Given the description of an element on the screen output the (x, y) to click on. 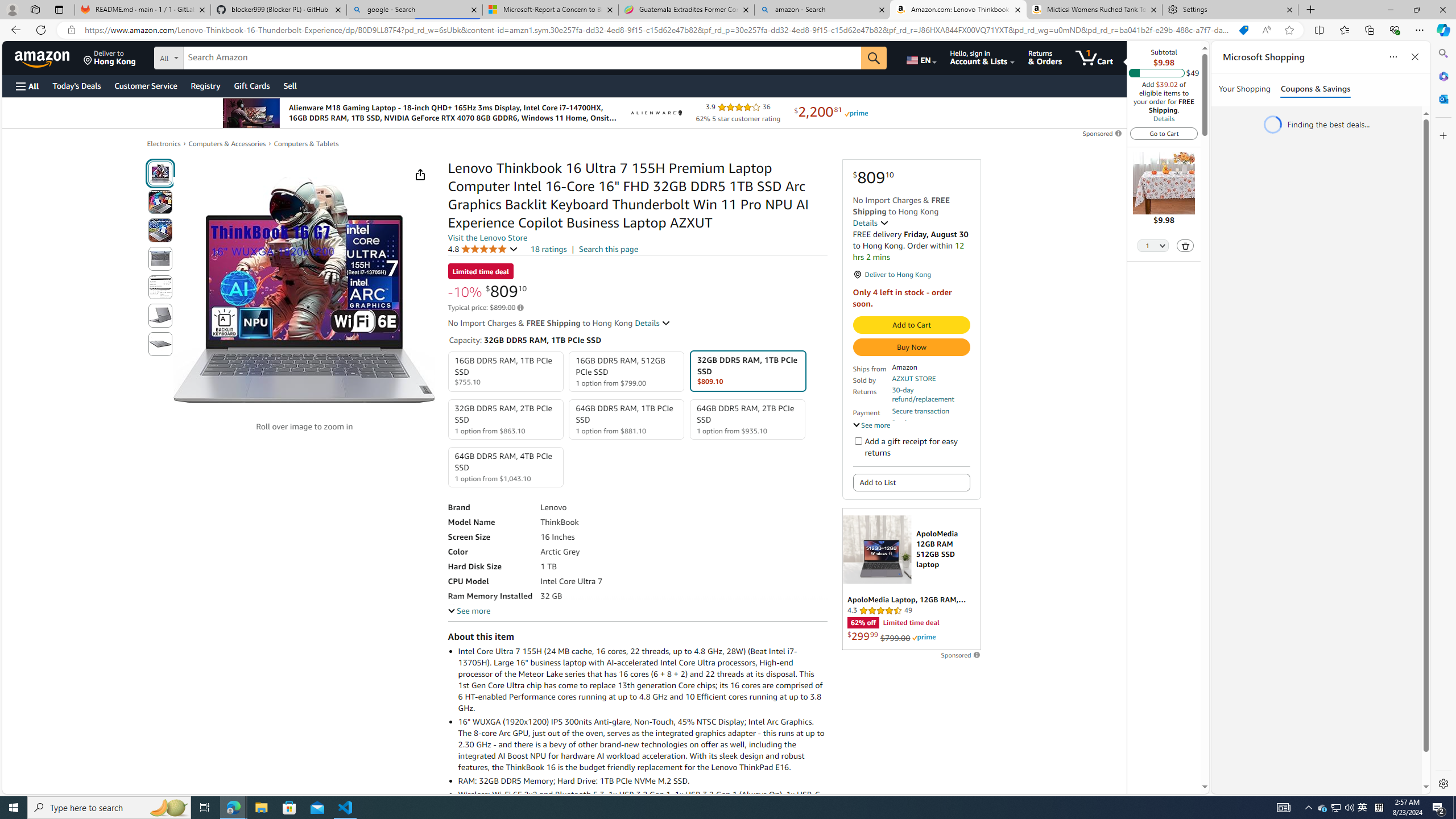
Search in (210, 56)
Prime (923, 637)
Share (419, 174)
16GB DDR5 RAM, 1TB PCIe SSD $755.10 (505, 371)
Side bar (1443, 418)
Amazon (43, 57)
